Given the description of an element on the screen output the (x, y) to click on. 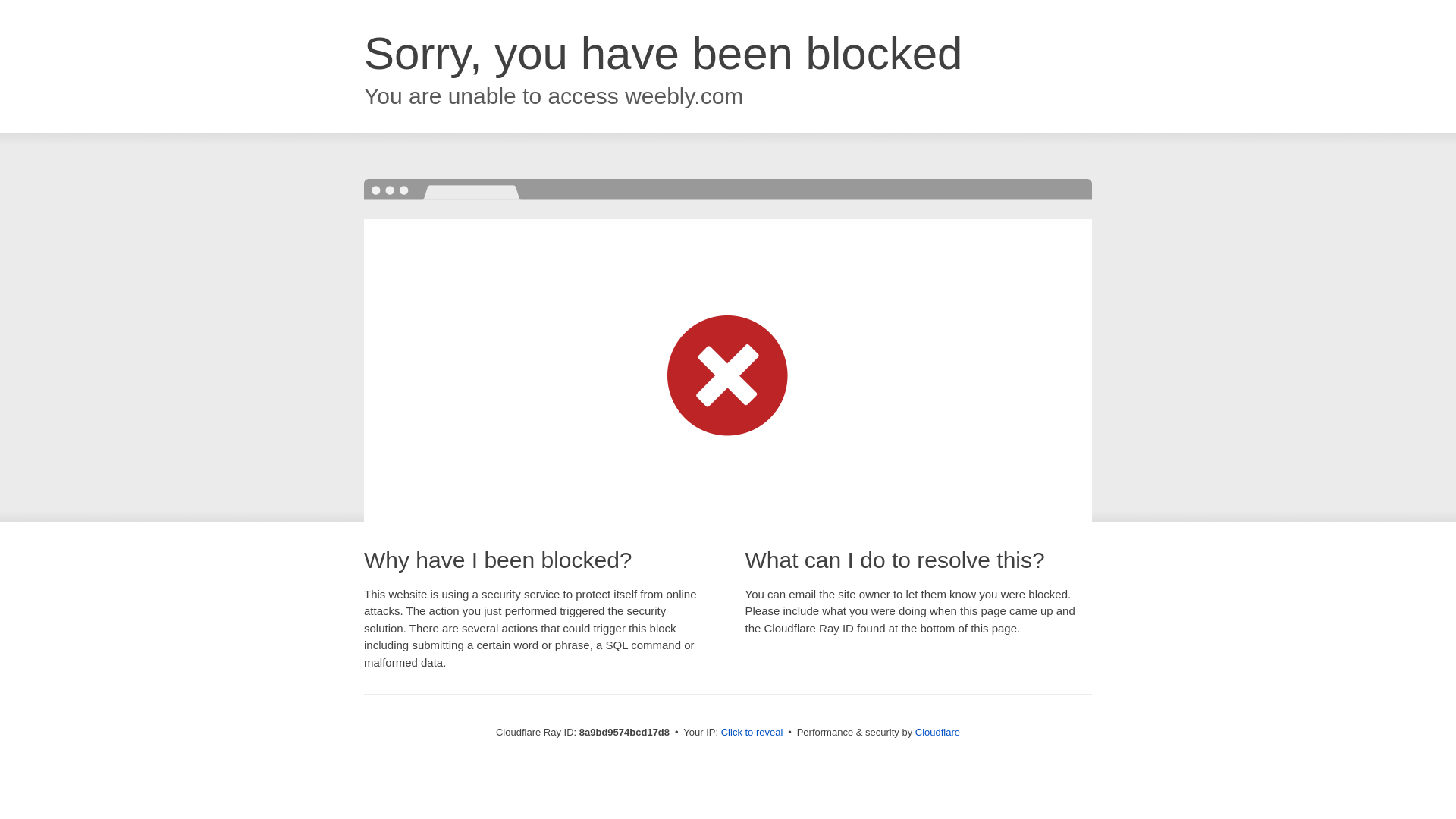
Cloudflare (937, 731)
Click to reveal (751, 732)
